Given the description of an element on the screen output the (x, y) to click on. 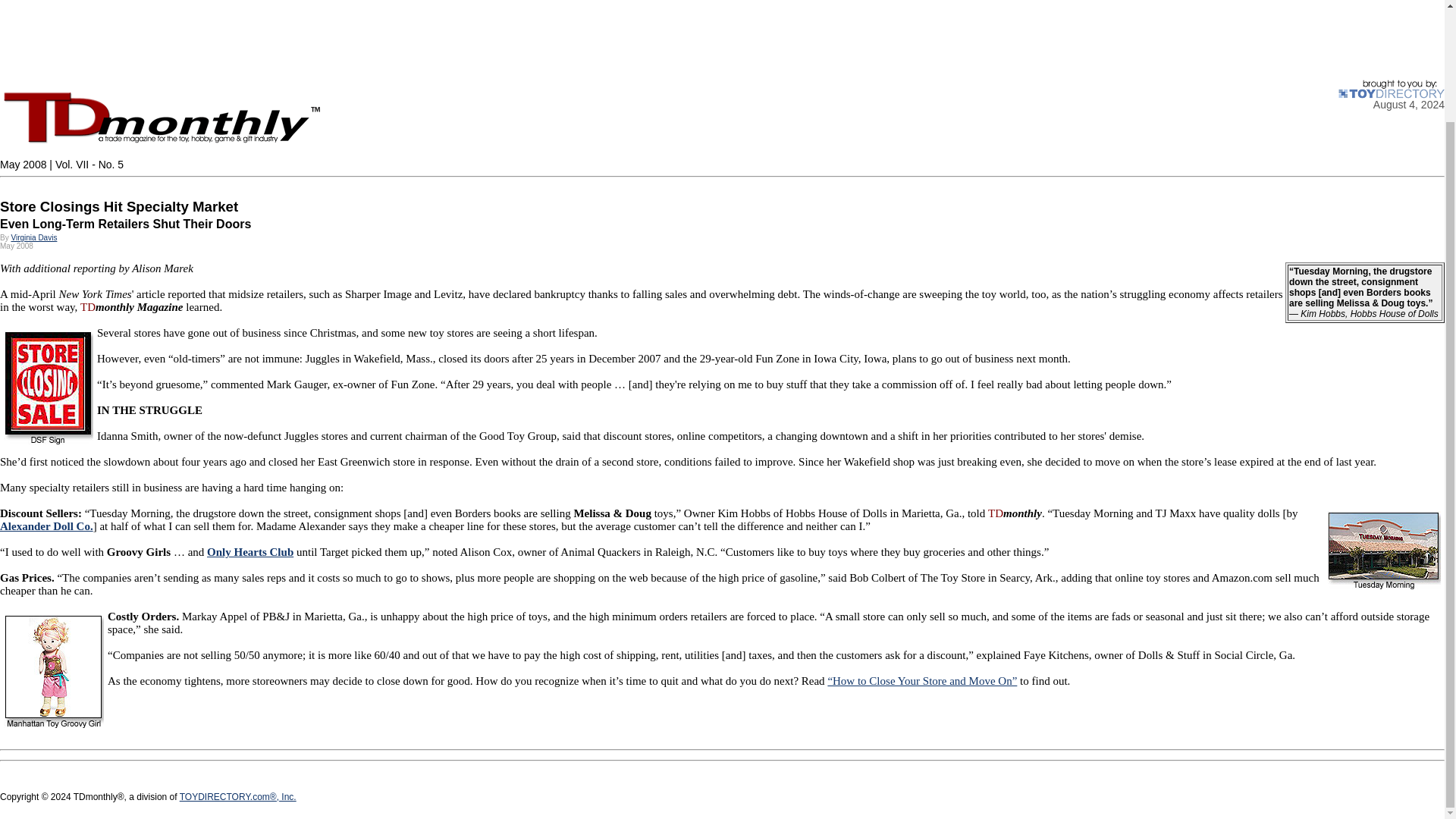
Alexander Doll Co. (46, 526)
Only Hearts Club (250, 551)
Virginia Davis (33, 237)
Advertisement (455, 39)
